Given the description of an element on the screen output the (x, y) to click on. 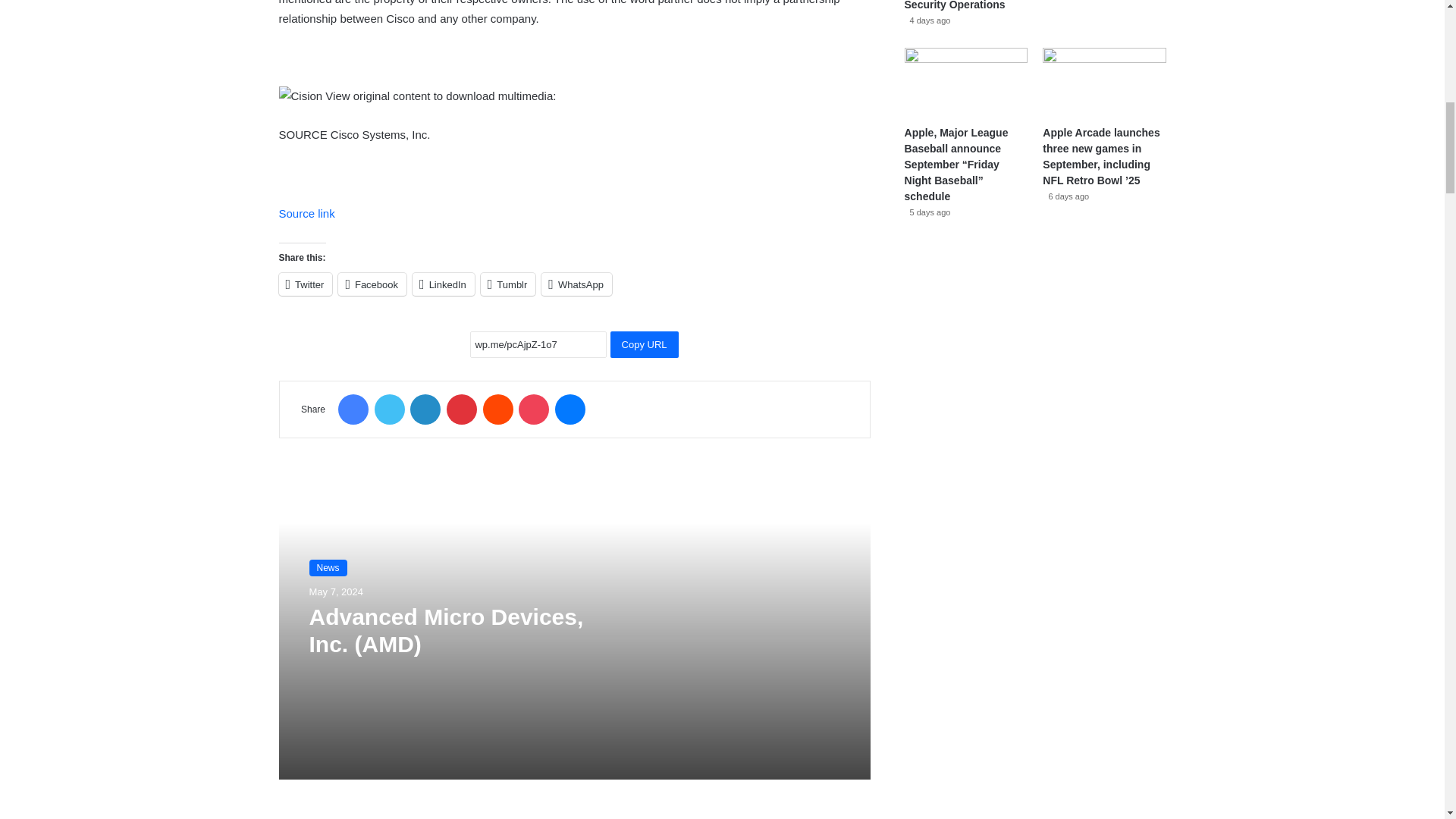
Pinterest (461, 409)
Click to share on Twitter (306, 283)
Click to share on Tumblr (507, 283)
Cision (301, 96)
X (389, 409)
Click to share on Facebook (371, 283)
Click to share on LinkedIn (443, 283)
LinkedIn (425, 409)
Click to share on WhatsApp (576, 283)
Facebook (352, 409)
